Given the description of an element on the screen output the (x, y) to click on. 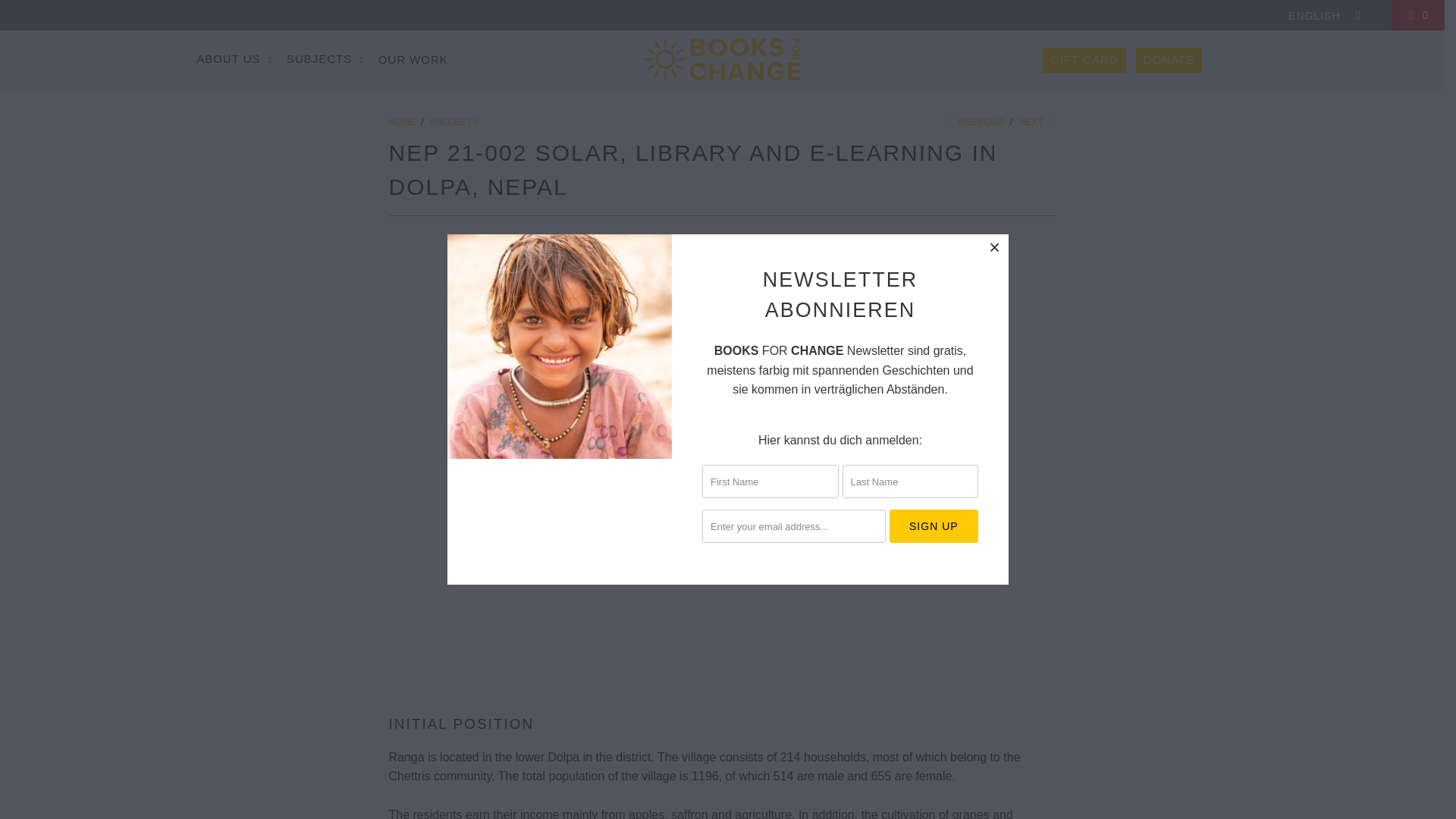
BOOKS   FOR   CHANGE (402, 122)
BOOKS   FOR   CHANGE (722, 59)
Sign Up (933, 525)
projects (454, 122)
